Given the description of an element on the screen output the (x, y) to click on. 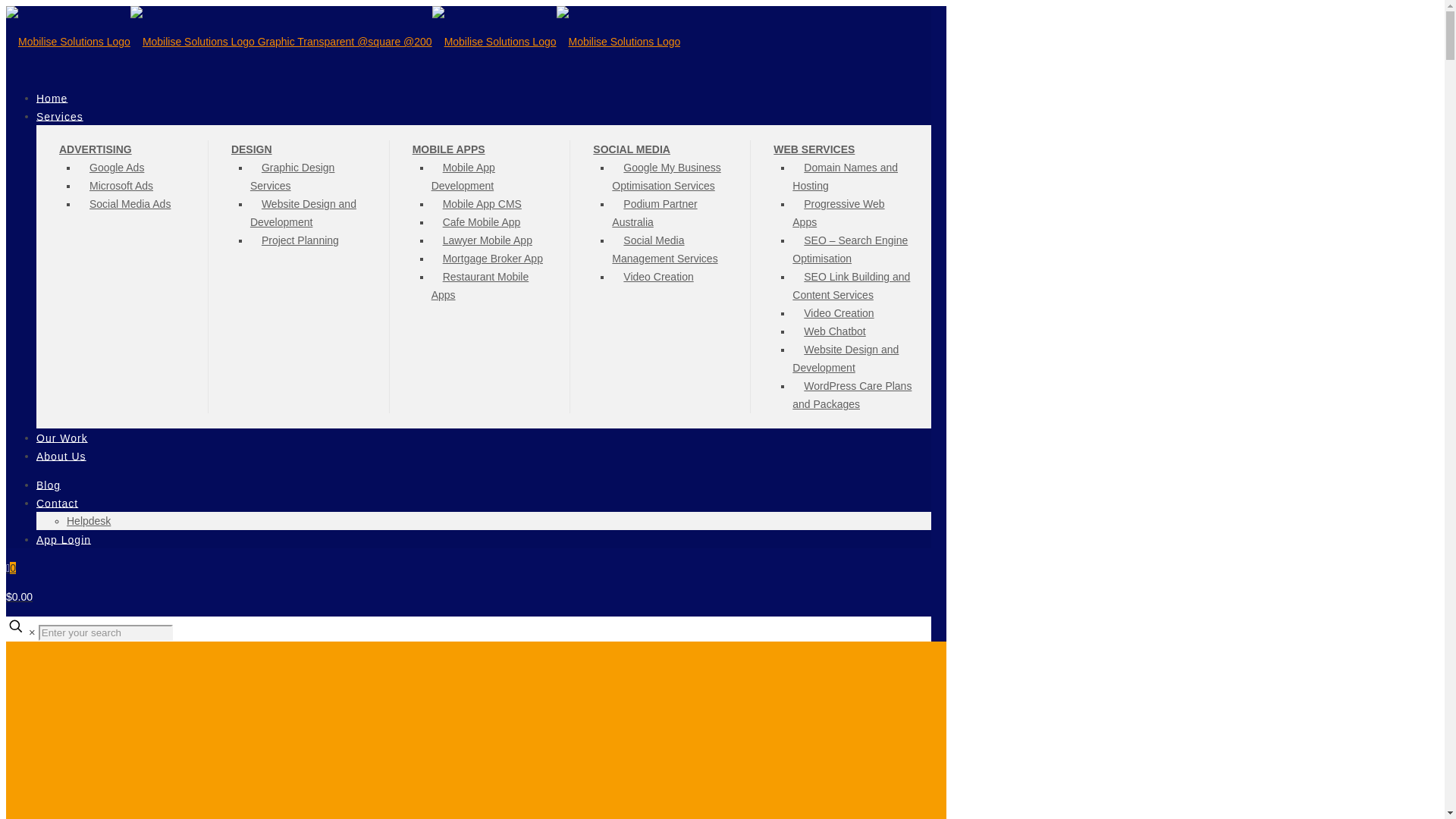
SEO Link Building and Content Services (851, 285)
Graphic Design Services (292, 176)
MOBILE APPS (448, 149)
Google My Business Optimisation Services (668, 176)
Mobilise Solutions (342, 41)
WEB SERVICES (813, 149)
Domain Names and Hosting (845, 176)
Google Ads (116, 167)
Social Media Management Services (670, 249)
Microsoft Ads (121, 185)
Video Creation (657, 276)
Progressive Web Apps (837, 212)
Mobile App Development (467, 176)
WordPress Care Plans and Packages (851, 394)
Podium Partner Australia (654, 212)
